Given the description of an element on the screen output the (x, y) to click on. 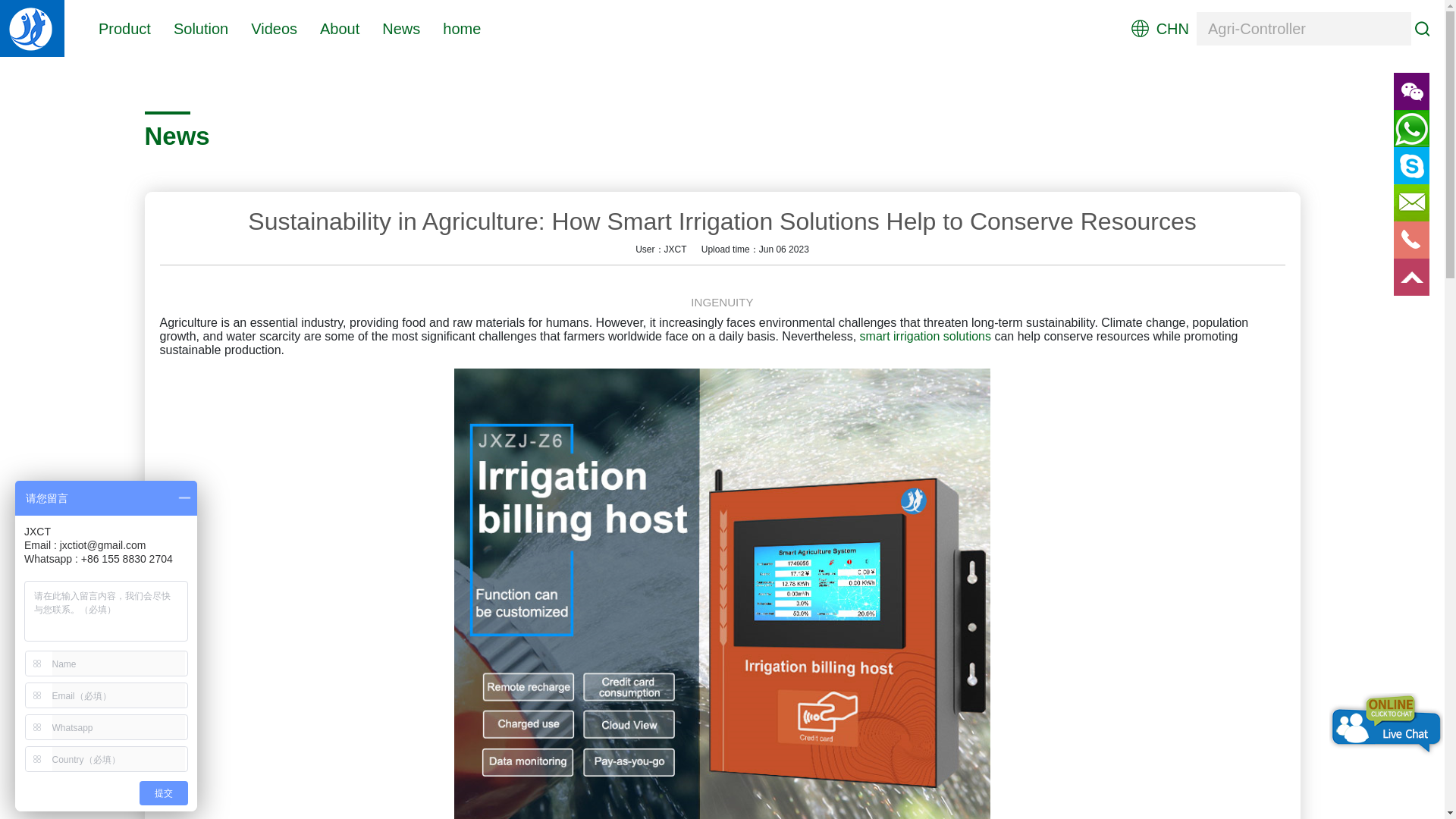
Product (125, 27)
Agri-Controller (1303, 28)
